Given the description of an element on the screen output the (x, y) to click on. 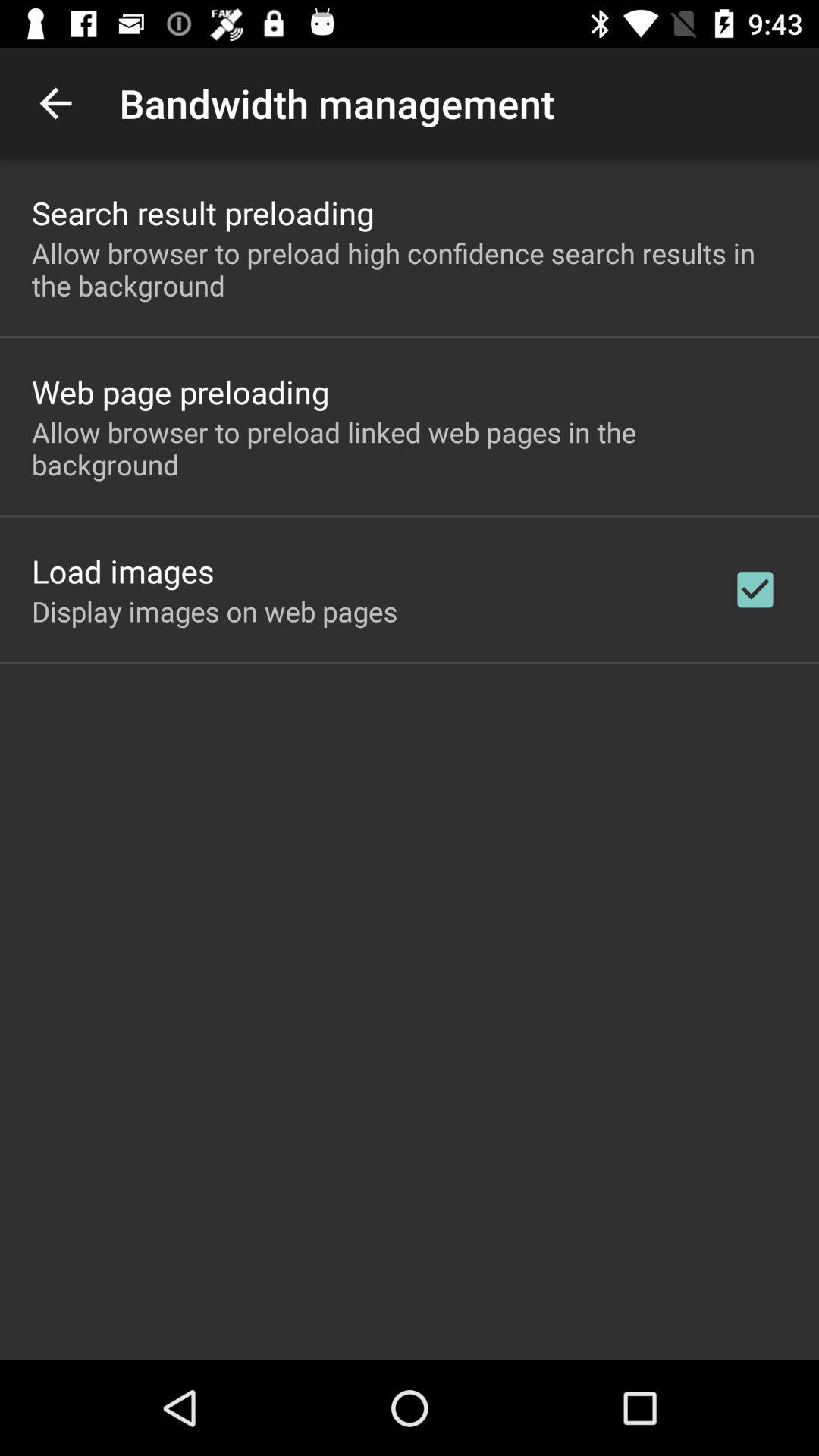
press item above the display images on (122, 570)
